Given the description of an element on the screen output the (x, y) to click on. 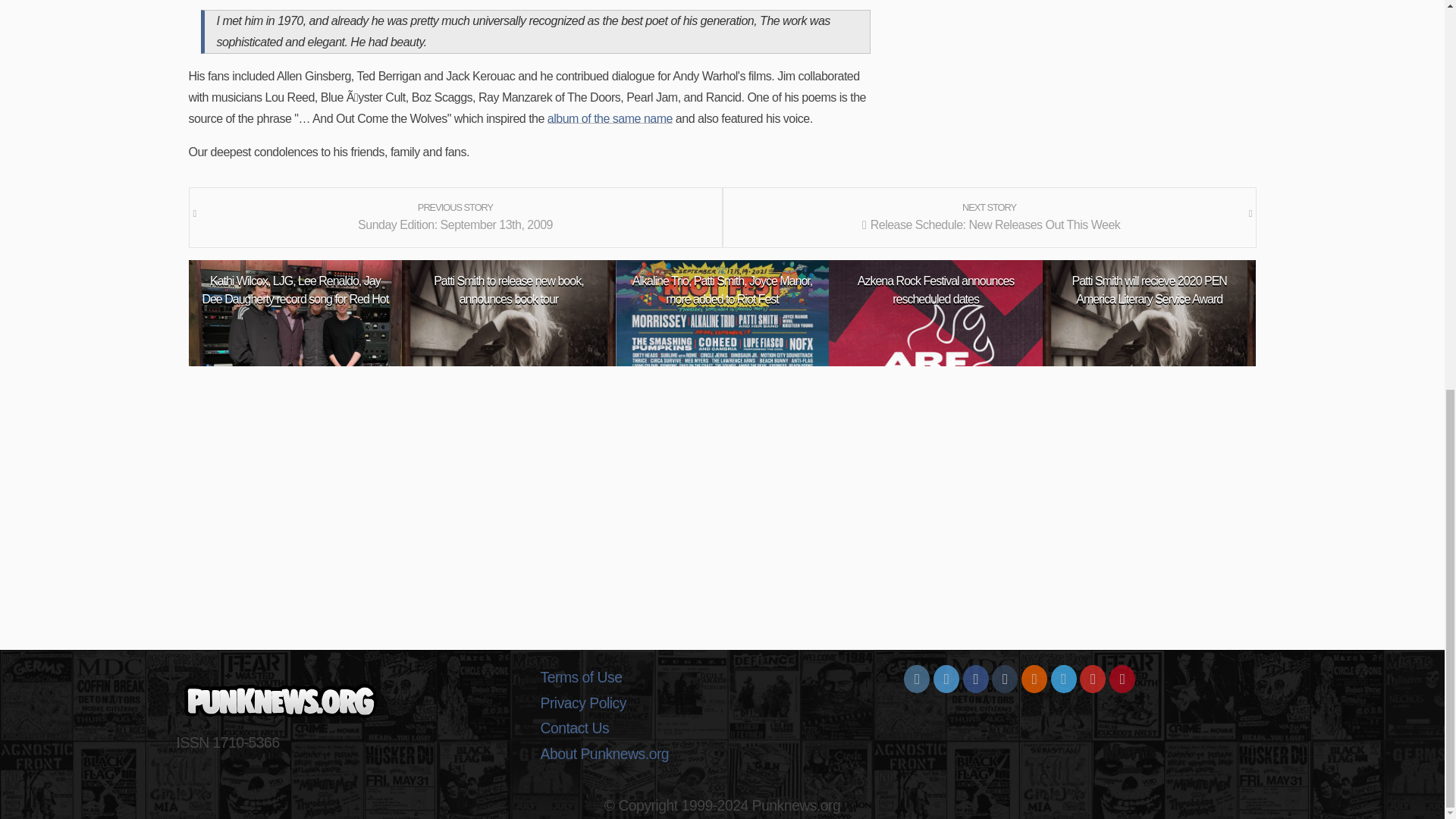
album of the same name (609, 118)
Punknews.org on Facebook (975, 678)
Punknews.org on Pinterest (1122, 678)
Punknews.org on Vimeo (1064, 678)
Punknews.org on Twitter (946, 678)
Patti Smith to release new book, announces book tour (508, 289)
Punknews.org on YouTube (1092, 678)
Punknews.org on Instagram (917, 678)
